Given the description of an element on the screen output the (x, y) to click on. 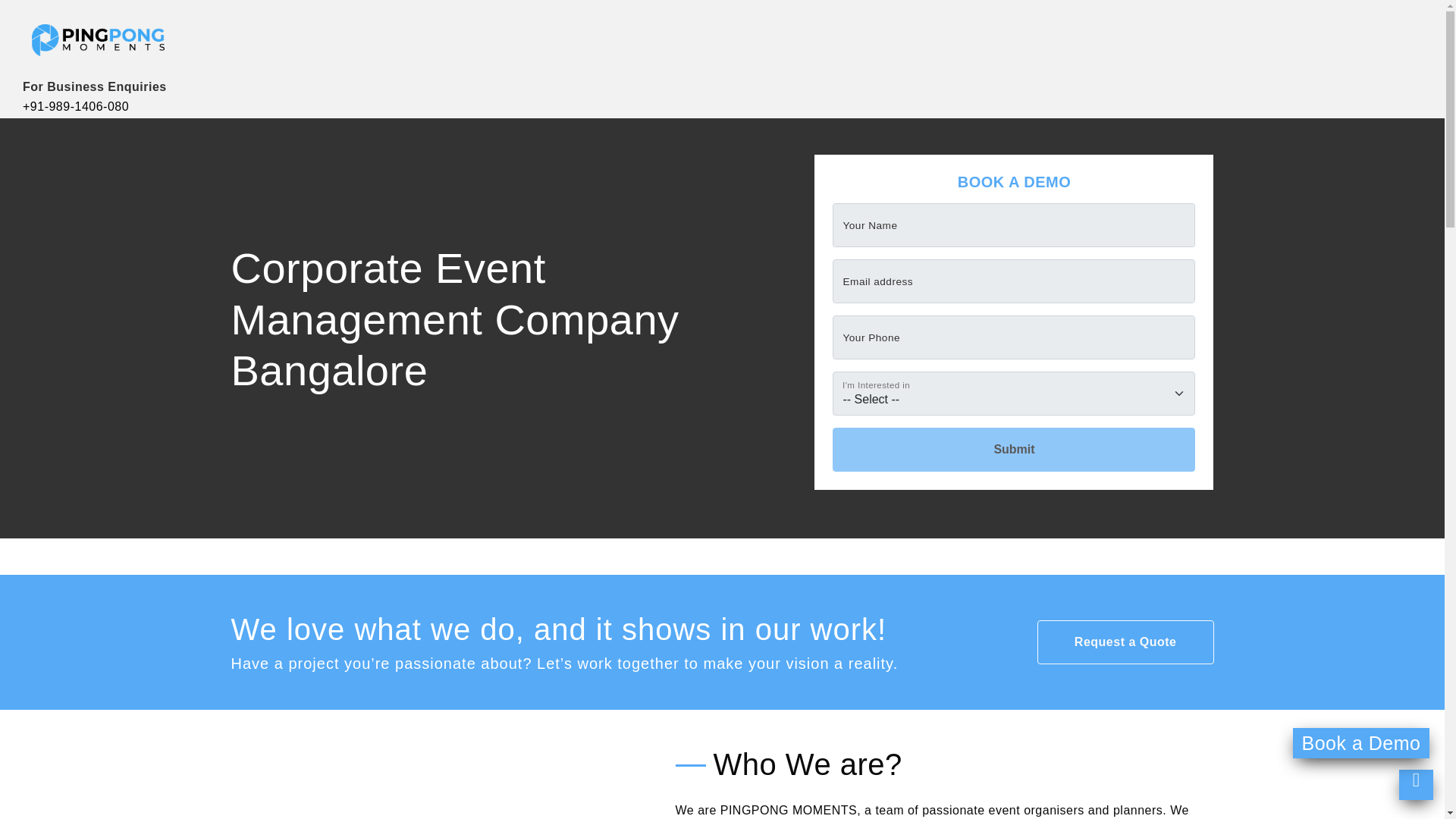
Please Enter Valid Name (1013, 225)
Book a Demo (1360, 743)
Please Enter 10 Digit Mobile Number (1013, 337)
Request a Quote (1125, 641)
Submit (1013, 449)
